Given the description of an element on the screen output the (x, y) to click on. 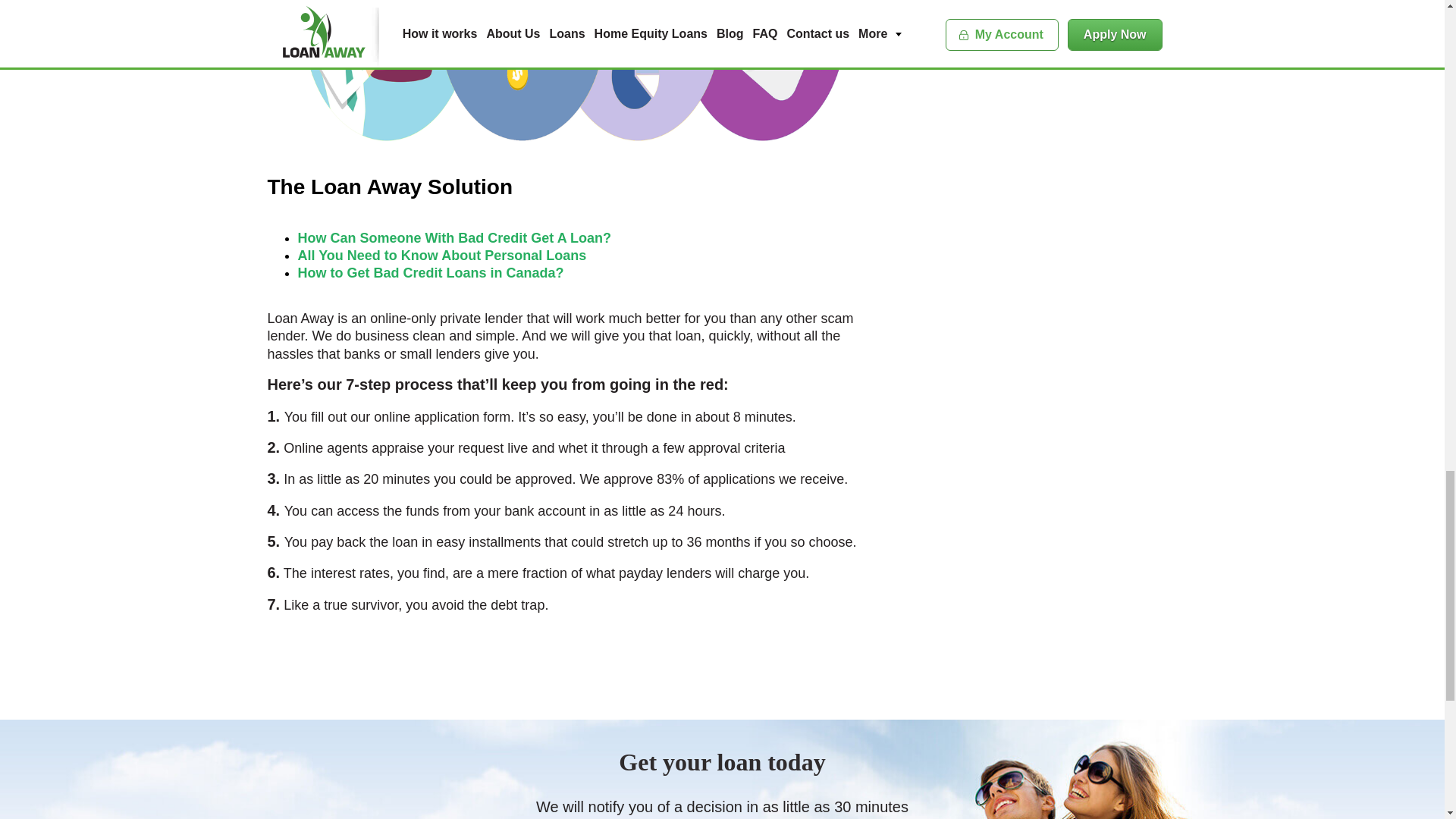
All You Need to Know About Personal Loans (441, 255)
Financial Crises And How Loans Can Help (575, 71)
How Can Someone With Bad Credit Get A Loan? (454, 237)
How to Get Bad Credit Loans in Canada? (430, 272)
